Given the description of an element on the screen output the (x, y) to click on. 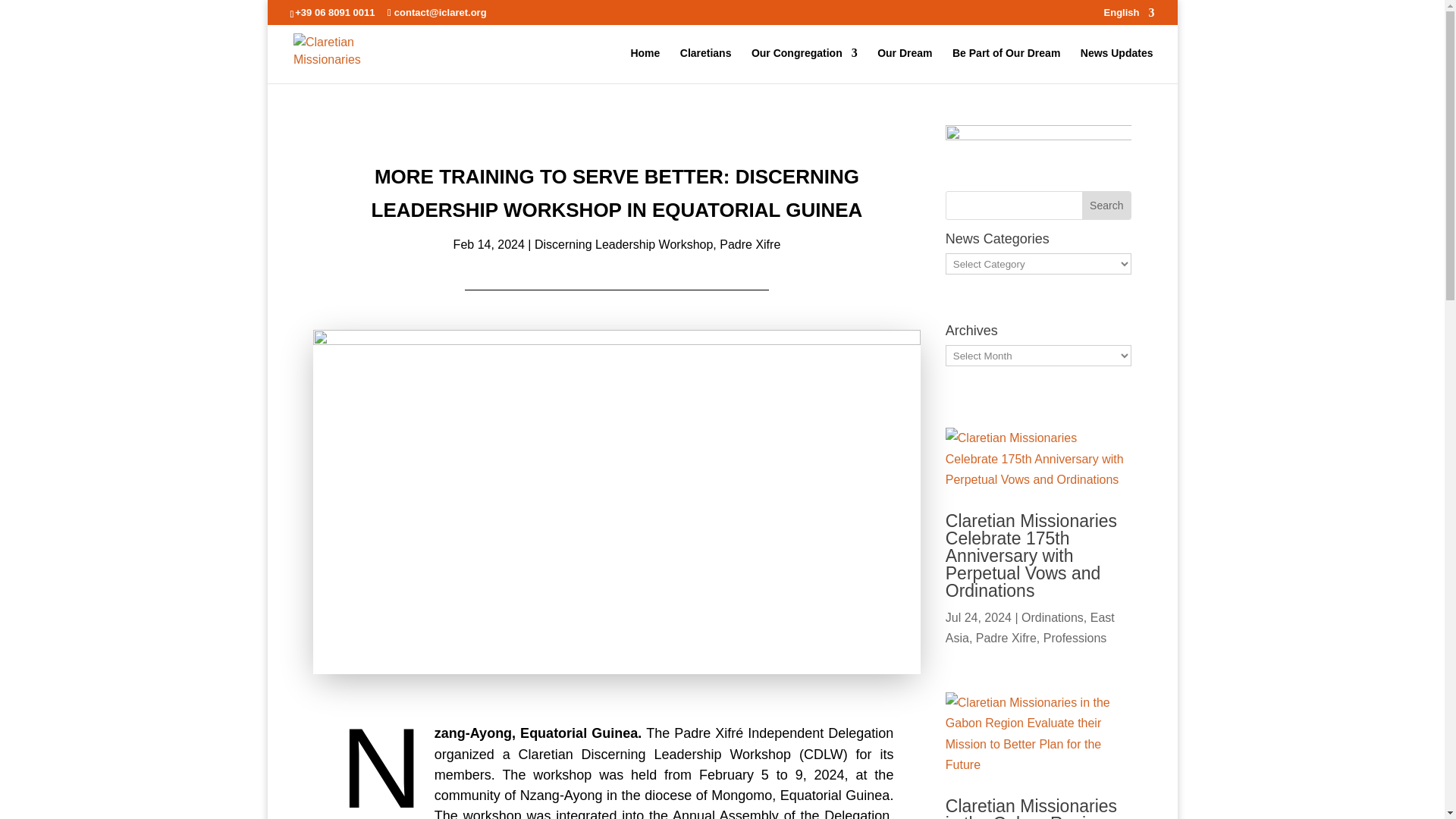
Claretians (705, 65)
East Asia (1029, 627)
Be Part of Our Dream (1005, 65)
Ordinations (1052, 617)
Search (1106, 204)
Padre Xifre (1005, 637)
Our Congregation (804, 65)
English (1128, 16)
News Updates (1116, 65)
